Given the description of an element on the screen output the (x, y) to click on. 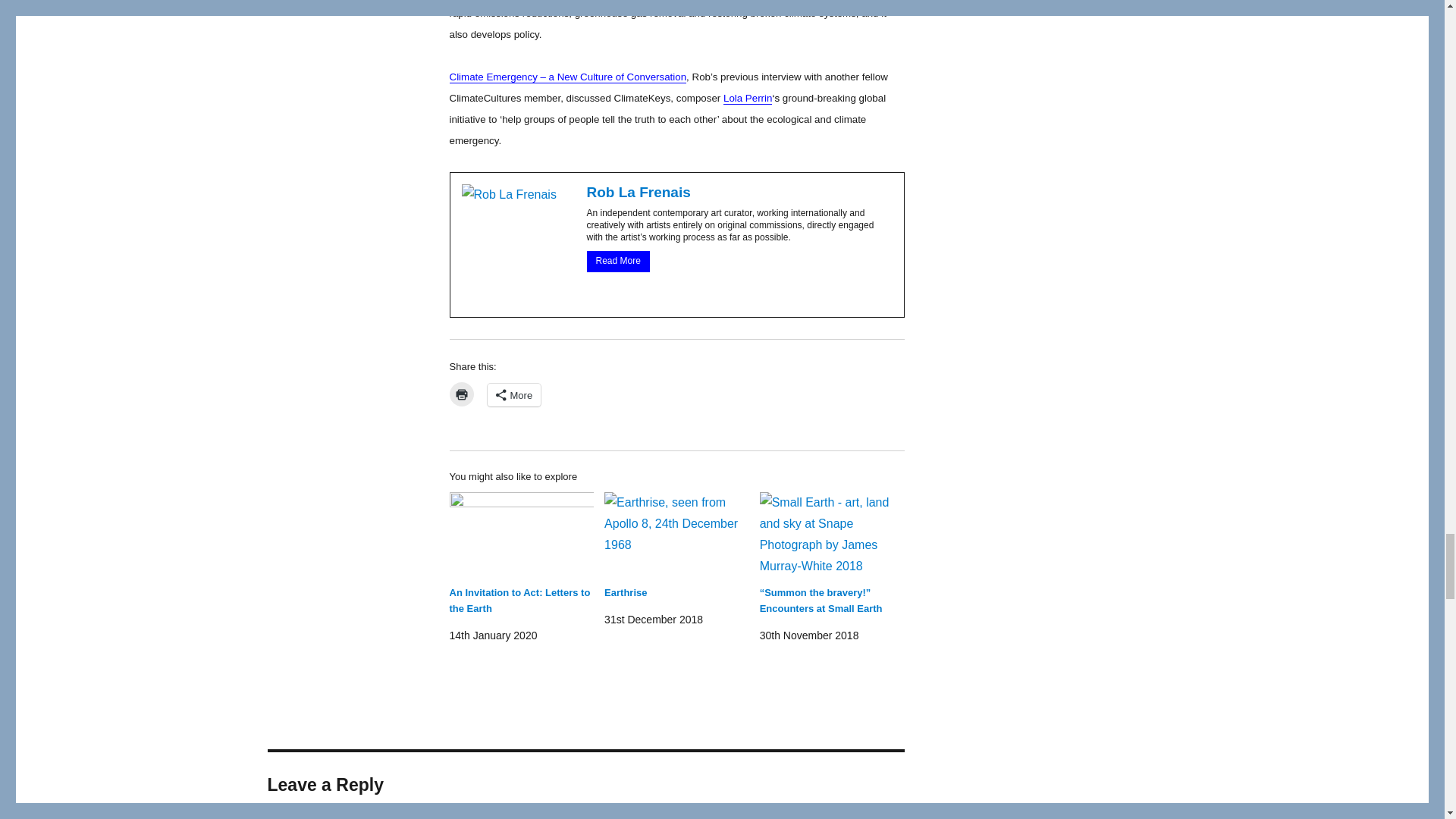
Earthrise (676, 533)
Click to print (460, 394)
An Invitation to Act: Letters to the Earth (521, 533)
An Invitation to Act: Letters to the Earth (518, 600)
Earthrise (625, 592)
